Given the description of an element on the screen output the (x, y) to click on. 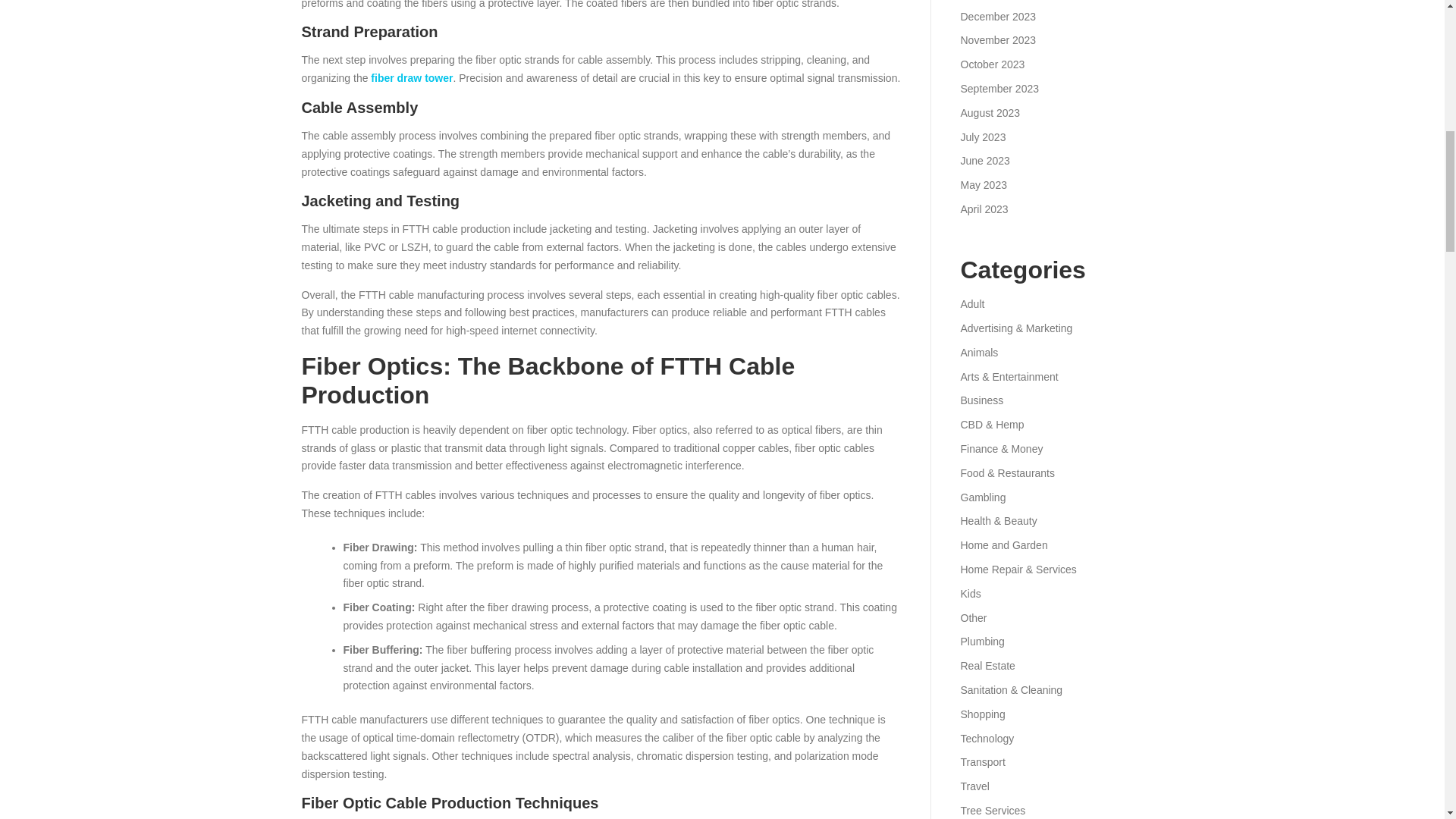
Animals (978, 352)
August 2023 (989, 112)
May 2023 (982, 184)
fiber draw tower (411, 78)
Adult (971, 304)
July 2023 (982, 137)
November 2023 (997, 39)
Business (981, 399)
September 2023 (999, 88)
June 2023 (984, 160)
